Given the description of an element on the screen output the (x, y) to click on. 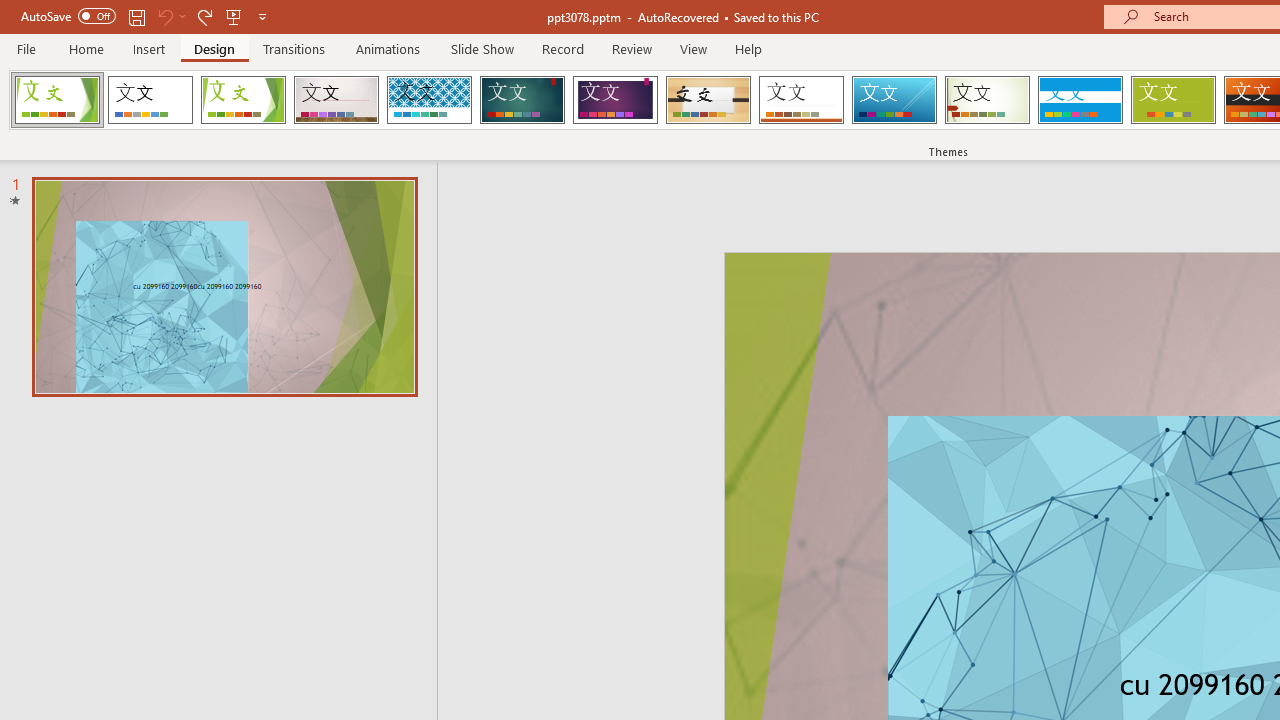
Organic Loading Preview... (708, 100)
Basis Loading Preview... (1172, 100)
Gallery (336, 100)
Integral Loading Preview... (429, 100)
Ion Boardroom Loading Preview... (615, 100)
